Given the description of an element on the screen output the (x, y) to click on. 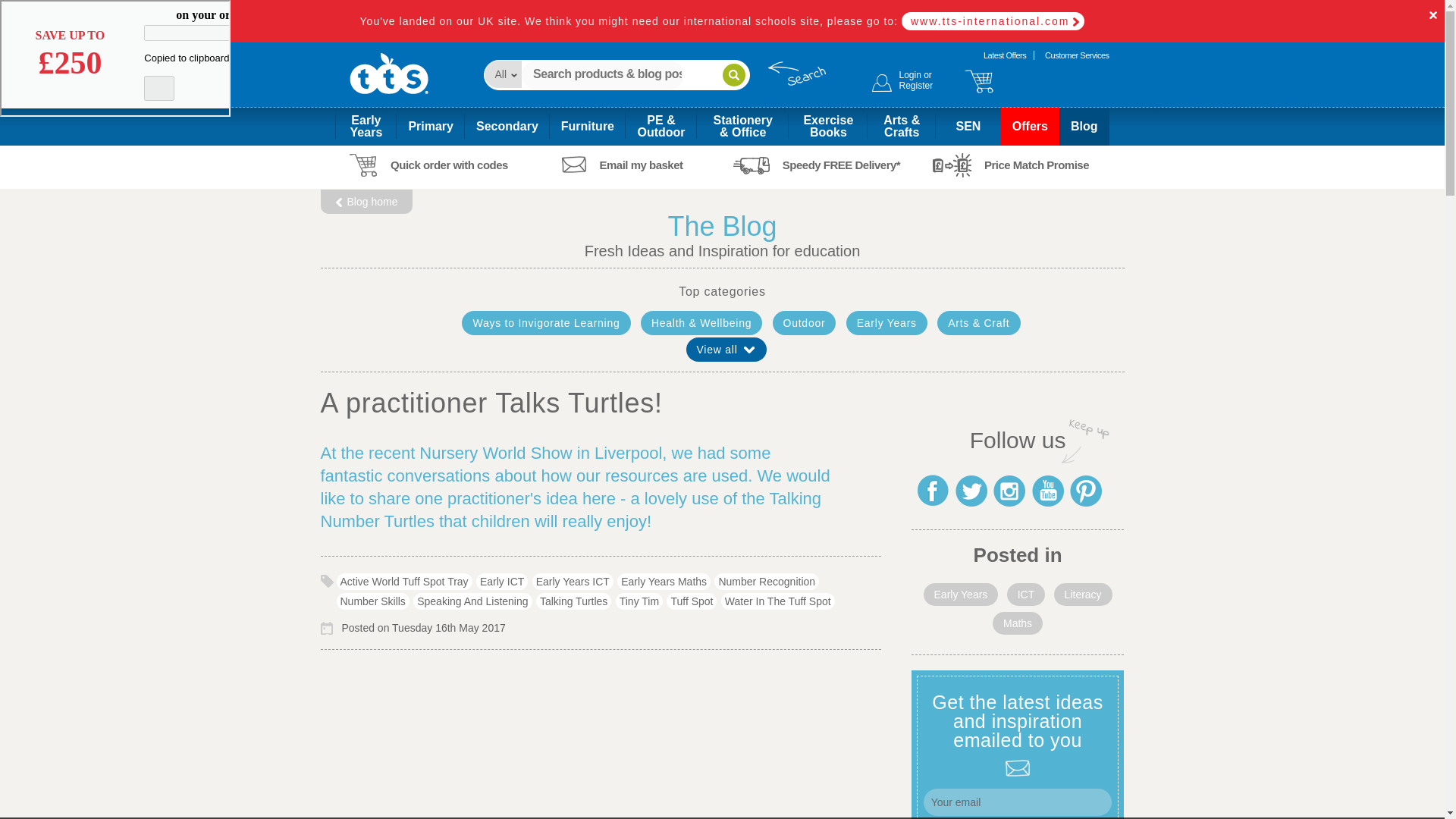
Login or (902, 81)
Customer Services (1076, 54)
TTS School Resources Online Shop (388, 79)
www.tts-international.com (992, 21)
All (502, 73)
customer services (902, 81)
Early Years (1076, 54)
Latest Offers (365, 126)
Latest Offers (1004, 54)
